Given the description of an element on the screen output the (x, y) to click on. 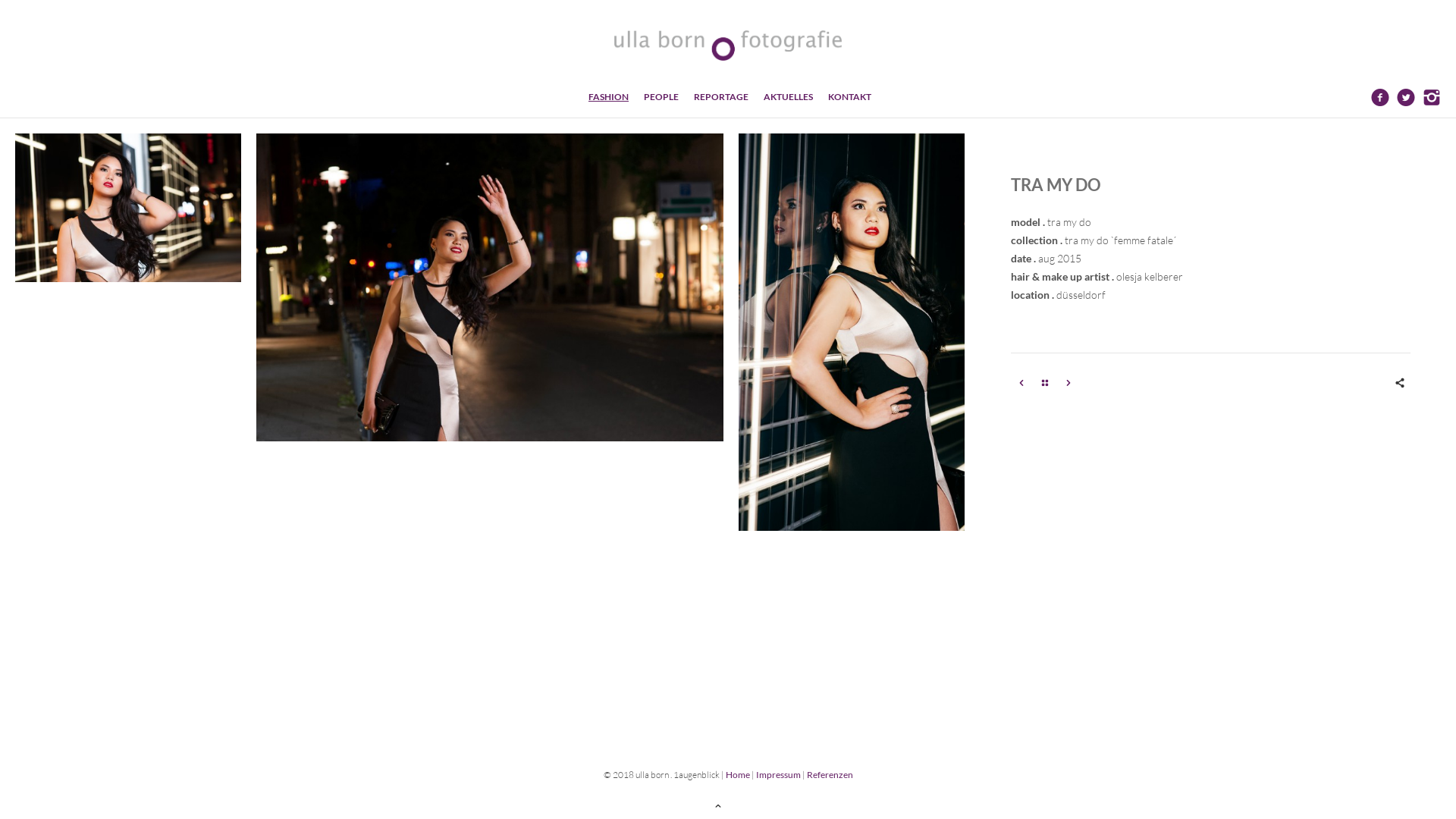
REPORTAGE Element type: text (728, 96)
Referenzen Element type: text (829, 774)
Home Element type: text (736, 774)
Impressum Element type: text (777, 774)
1augenblick Element type: hover (727, 45)
PEOPLE Element type: text (668, 96)
KONTAKT Element type: text (849, 96)
FASHION Element type: text (615, 96)
AKTUELLES Element type: text (795, 96)
